Given the description of an element on the screen output the (x, y) to click on. 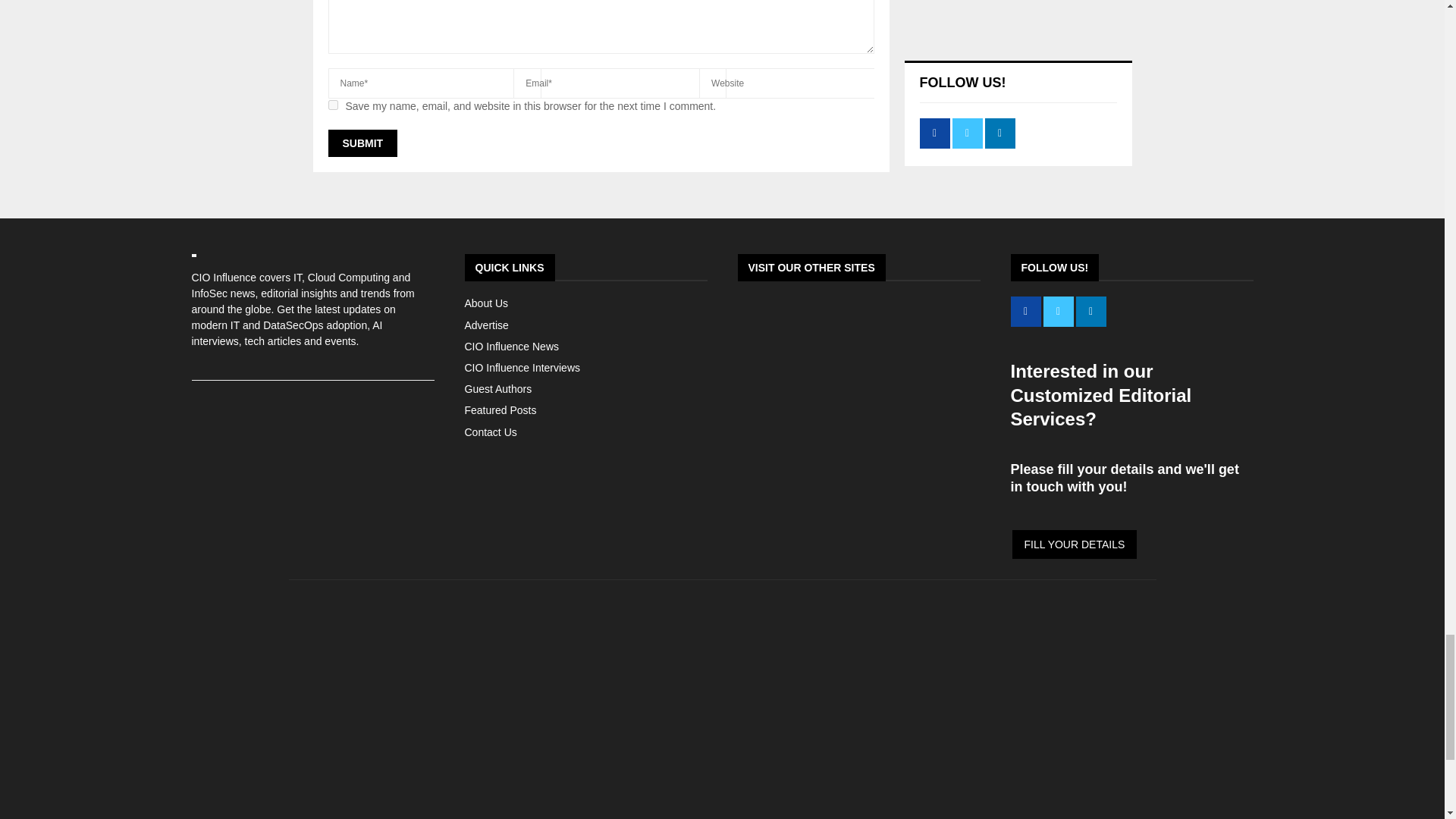
Submit (362, 143)
yes (332, 104)
CIO Influence (721, 809)
